Given the description of an element on the screen output the (x, y) to click on. 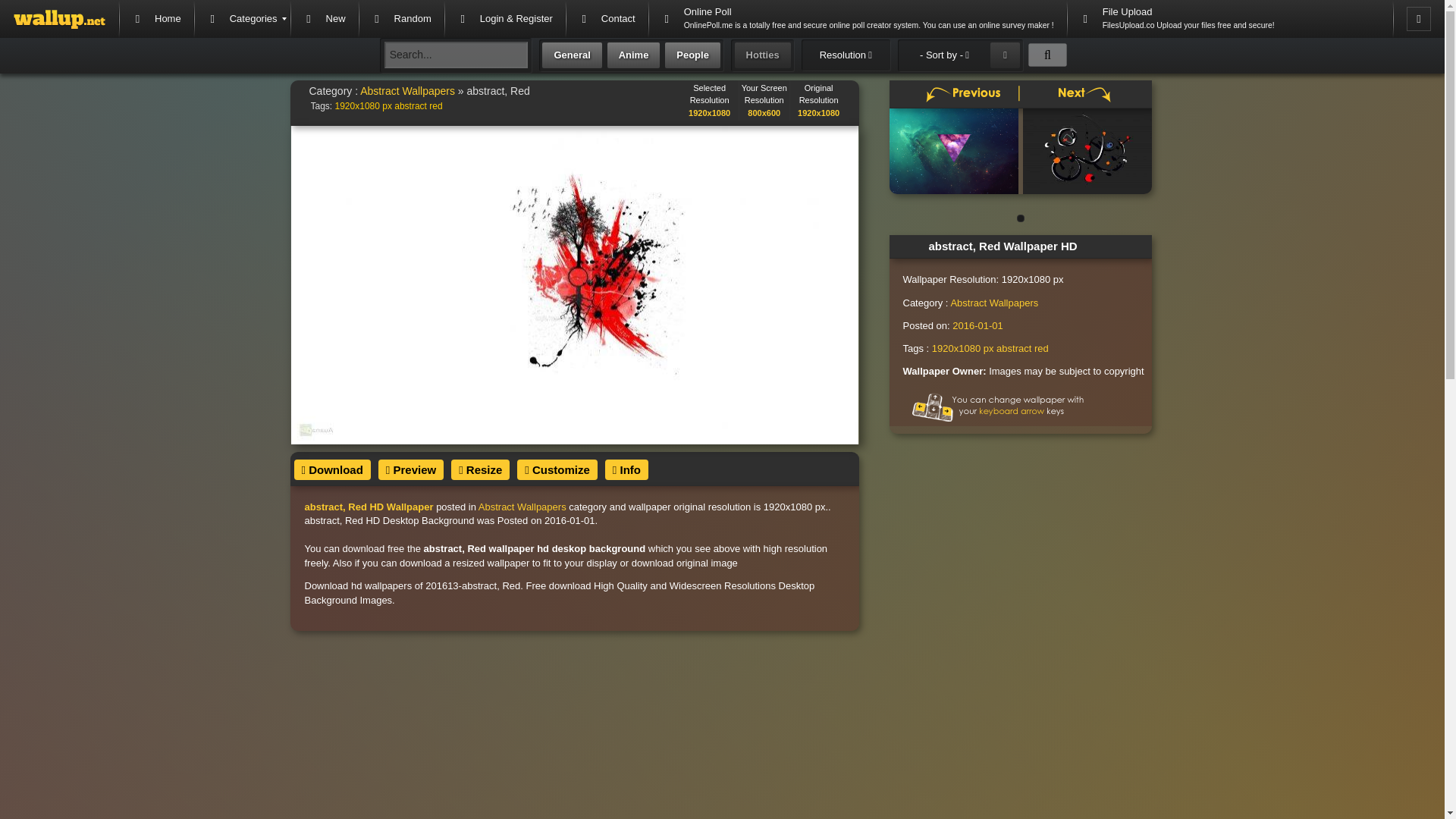
New (323, 18)
Contact (606, 18)
1920x1080 px Wallpapers (362, 106)
red Wallpapers (435, 106)
HD Wallpapers - Desktop Background Images (59, 18)
Random (401, 18)
Resize (480, 469)
New Wallpapers (323, 18)
Abstract Wallpapers (406, 91)
abstract Wallpapers (410, 106)
Random Wallpapers (401, 18)
Home (156, 18)
Home (156, 18)
Download abstract, Red Wallpaper (332, 469)
